Given the description of an element on the screen output the (x, y) to click on. 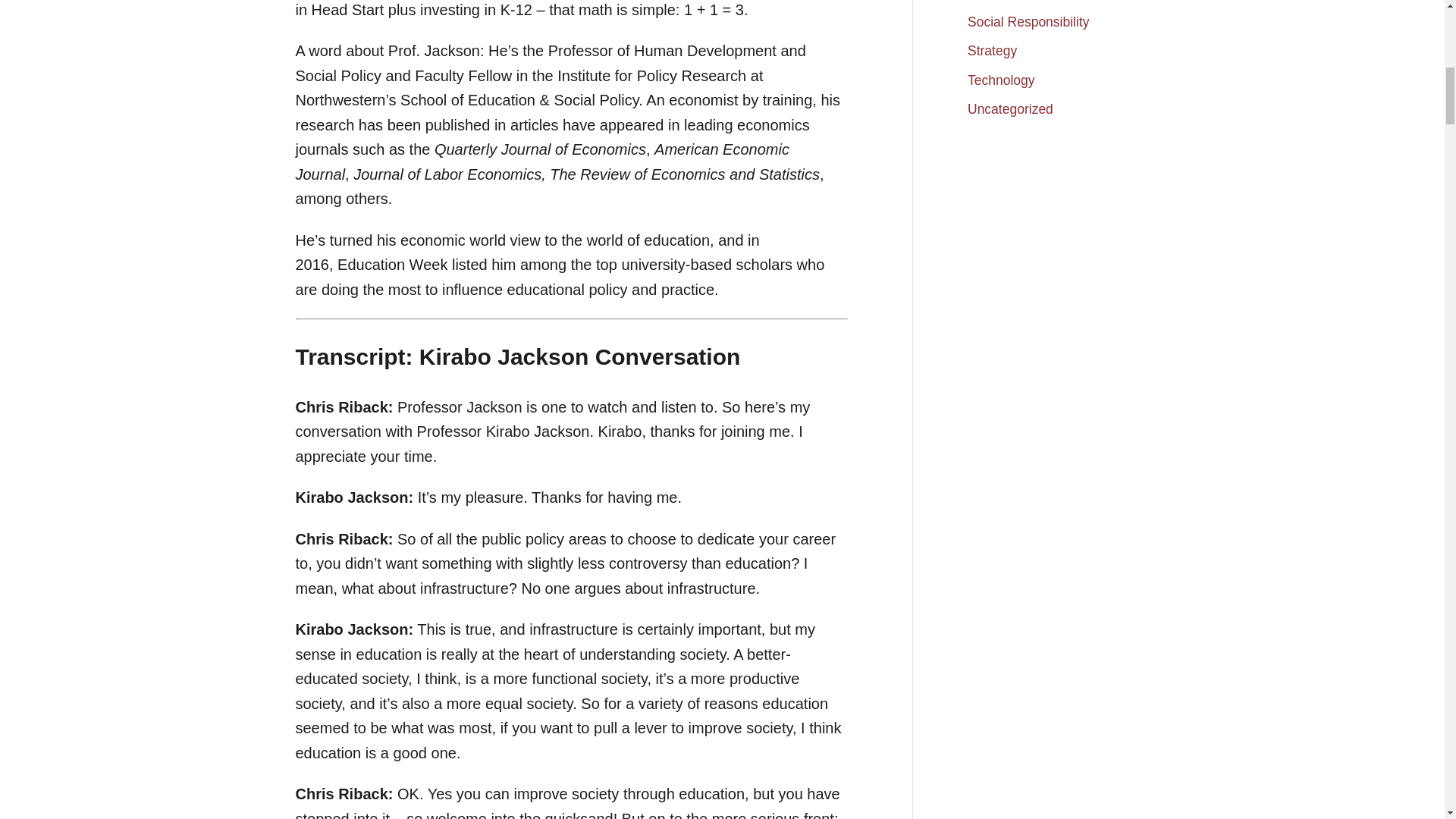
Uncategorized (1010, 109)
Strategy (992, 50)
Risk (980, 4)
Social Responsibility (1028, 20)
Technology (1000, 80)
